Given the description of an element on the screen output the (x, y) to click on. 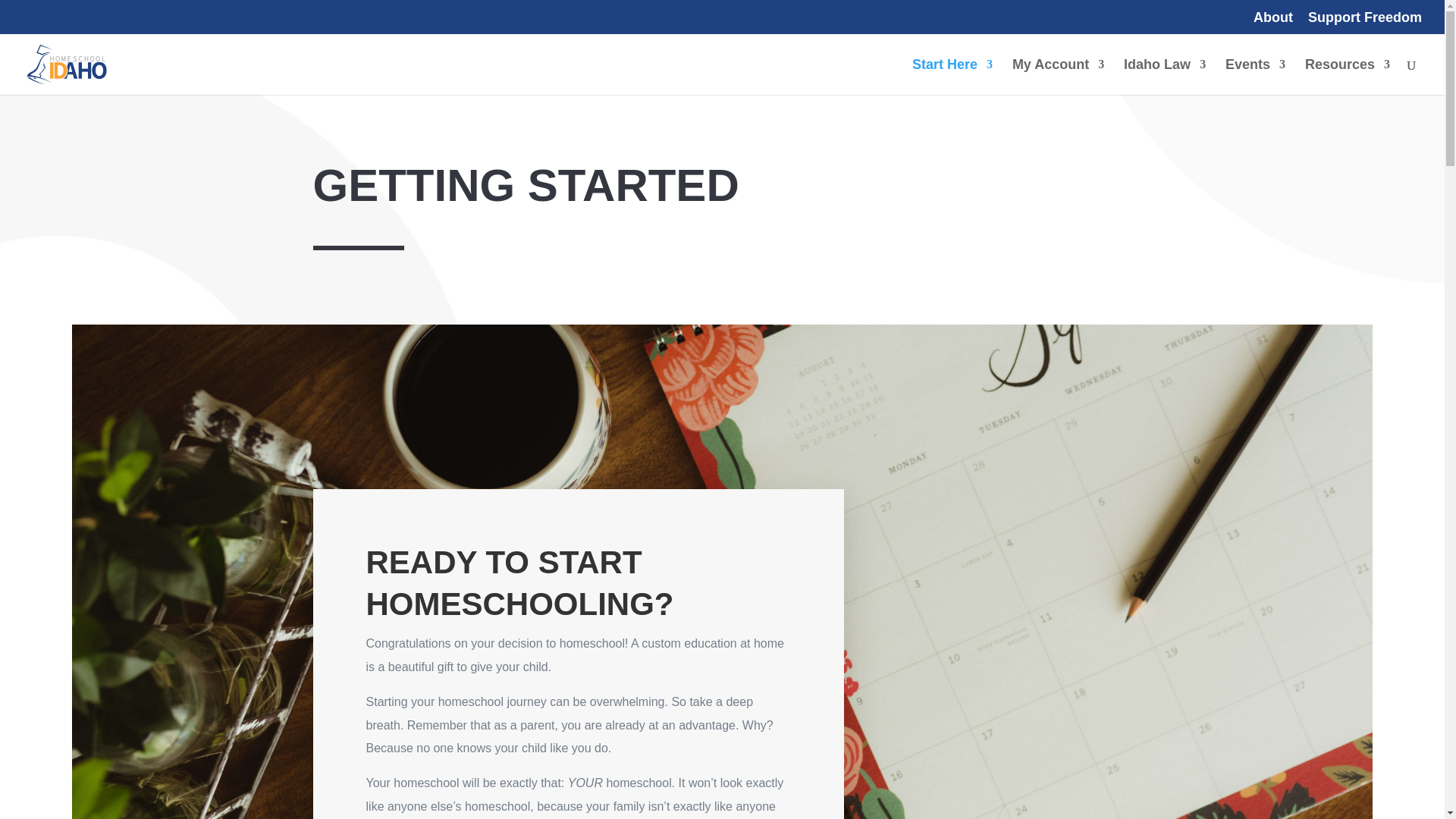
Events (1255, 76)
Idaho Law (1164, 76)
Support Freedom (1364, 22)
Resources (1347, 76)
About (1272, 22)
Start Here (952, 76)
My Account (1057, 76)
